Given the description of an element on the screen output the (x, y) to click on. 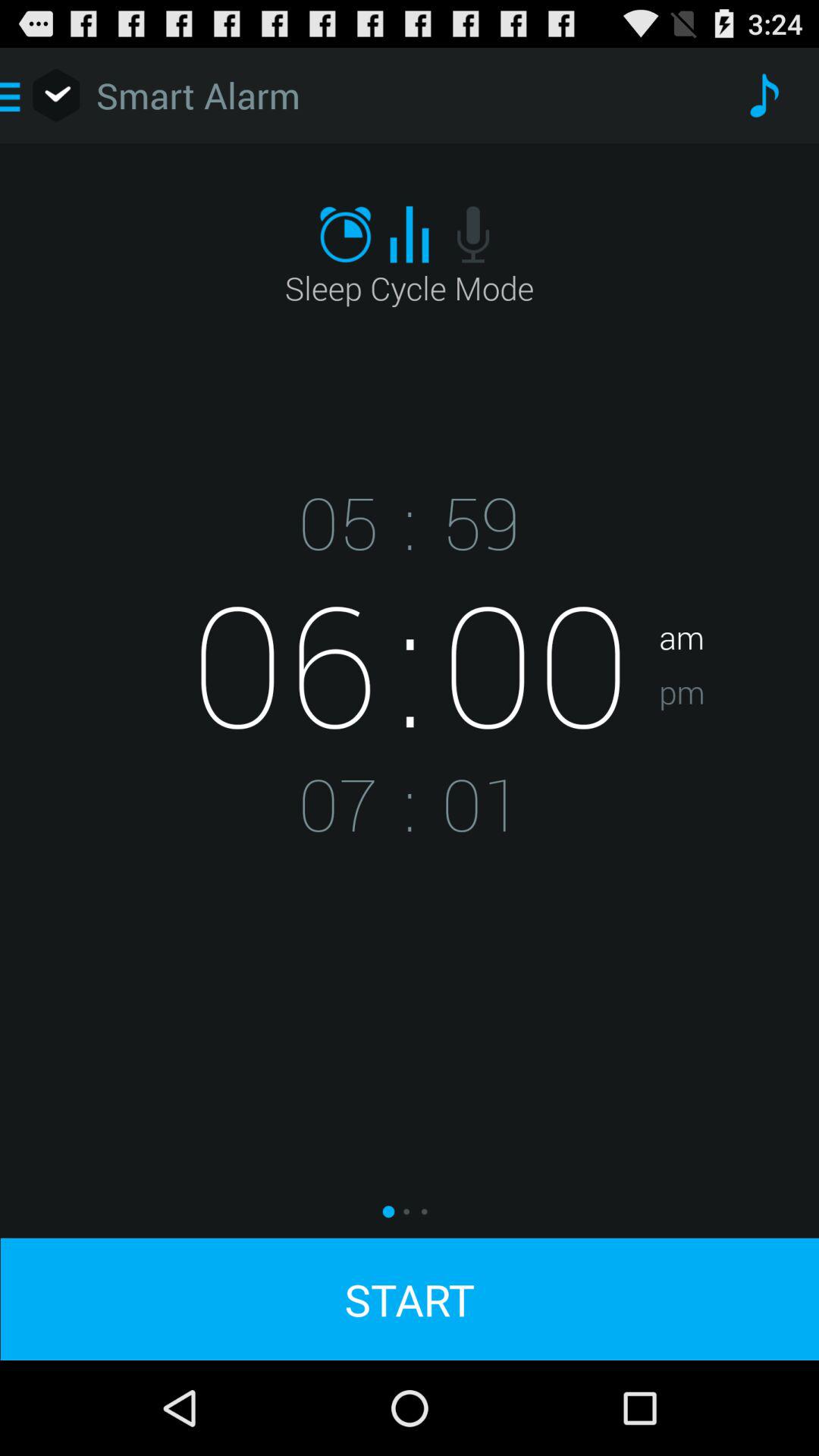
choose item at the top right corner (763, 95)
